Given the description of an element on the screen output the (x, y) to click on. 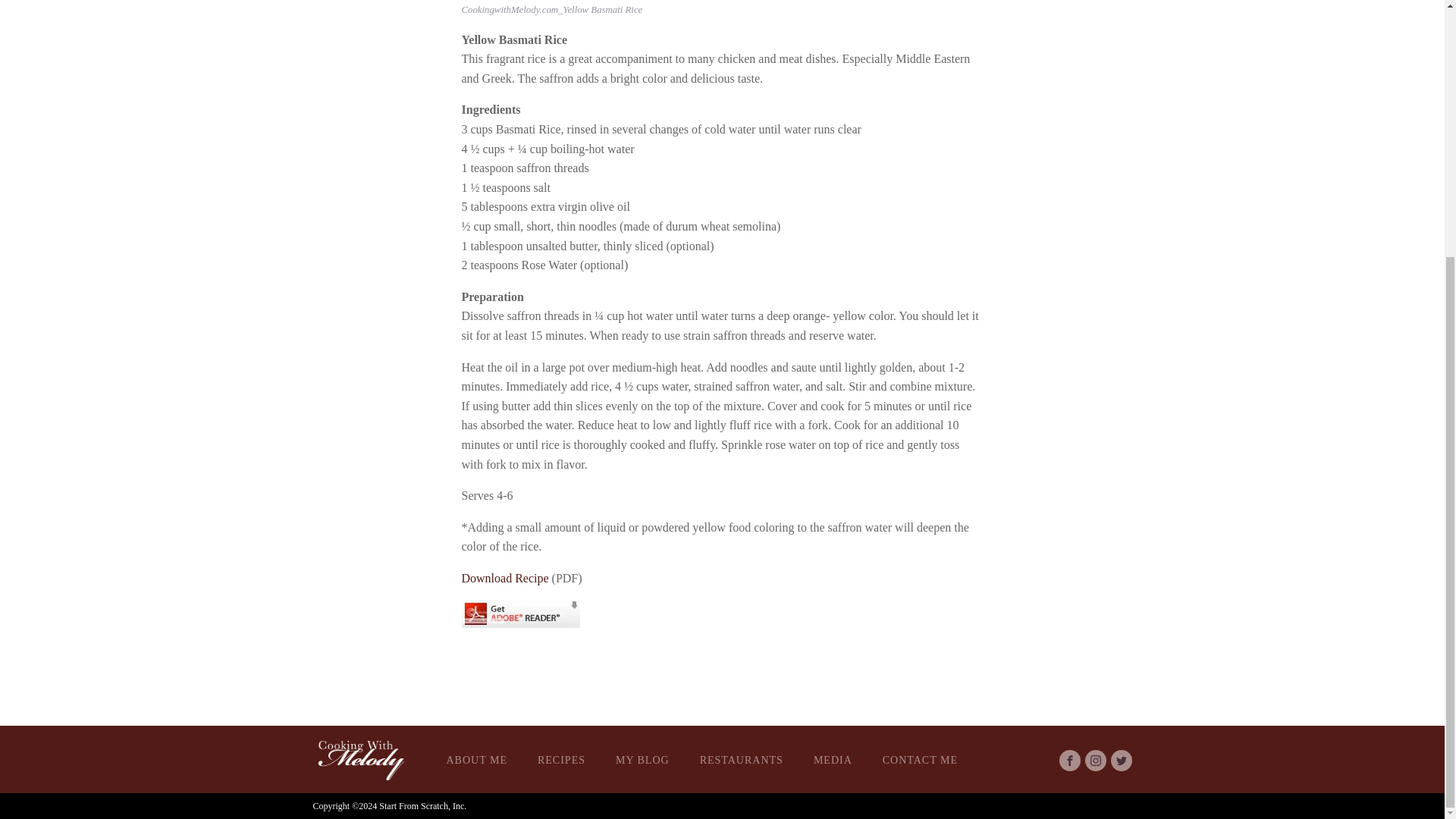
RECIPES (560, 760)
Download Recipe (504, 577)
MY BLOG (641, 760)
RESTAURANTS (740, 760)
Start From Scratch, Inc. (421, 805)
MEDIA (832, 760)
ABOUT ME (475, 760)
CONTACT ME (919, 760)
